Given the description of an element on the screen output the (x, y) to click on. 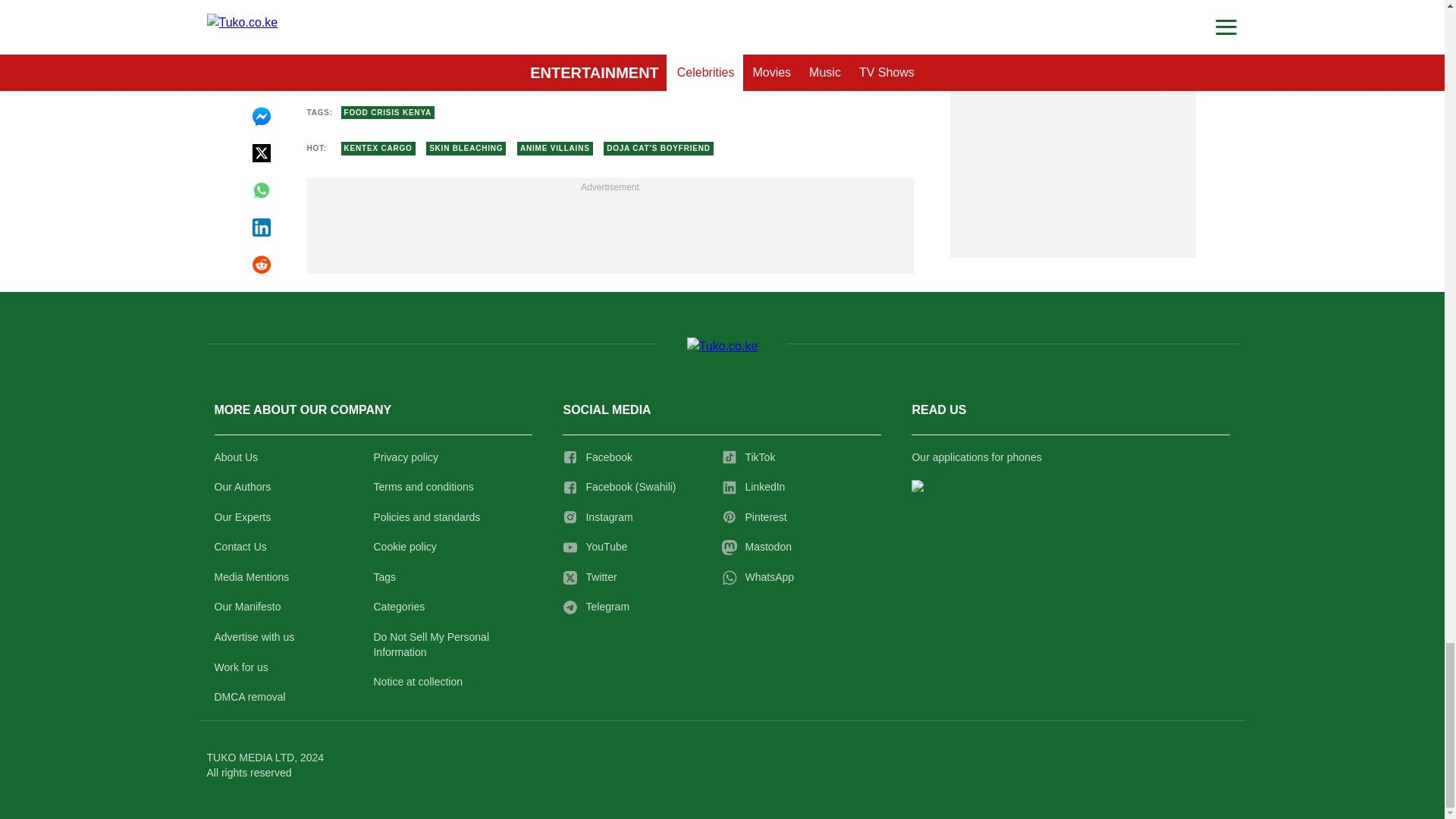
Author page (608, 45)
